Given the description of an element on the screen output the (x, y) to click on. 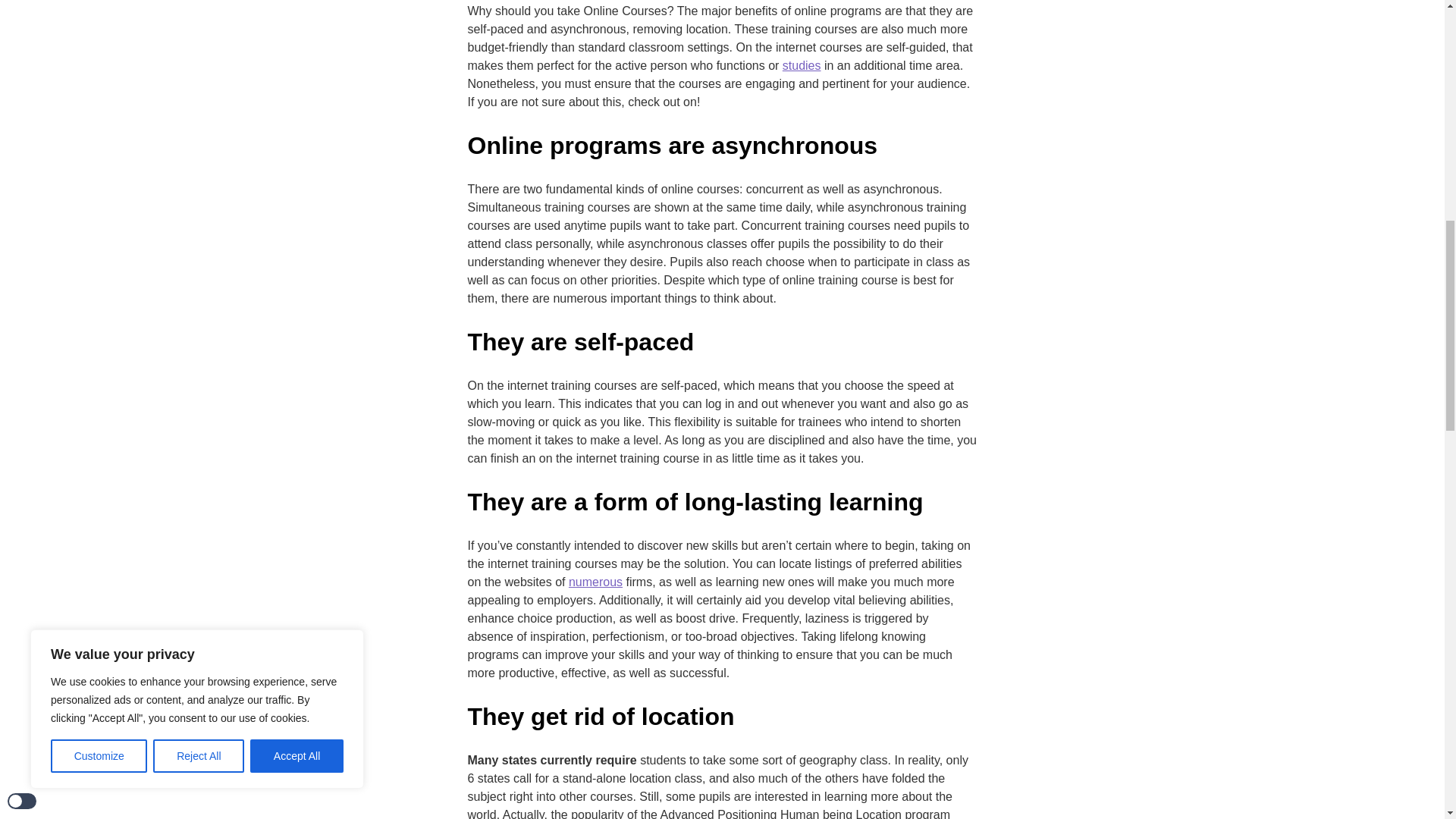
numerous (596, 582)
studies (802, 65)
